Given the description of an element on the screen output the (x, y) to click on. 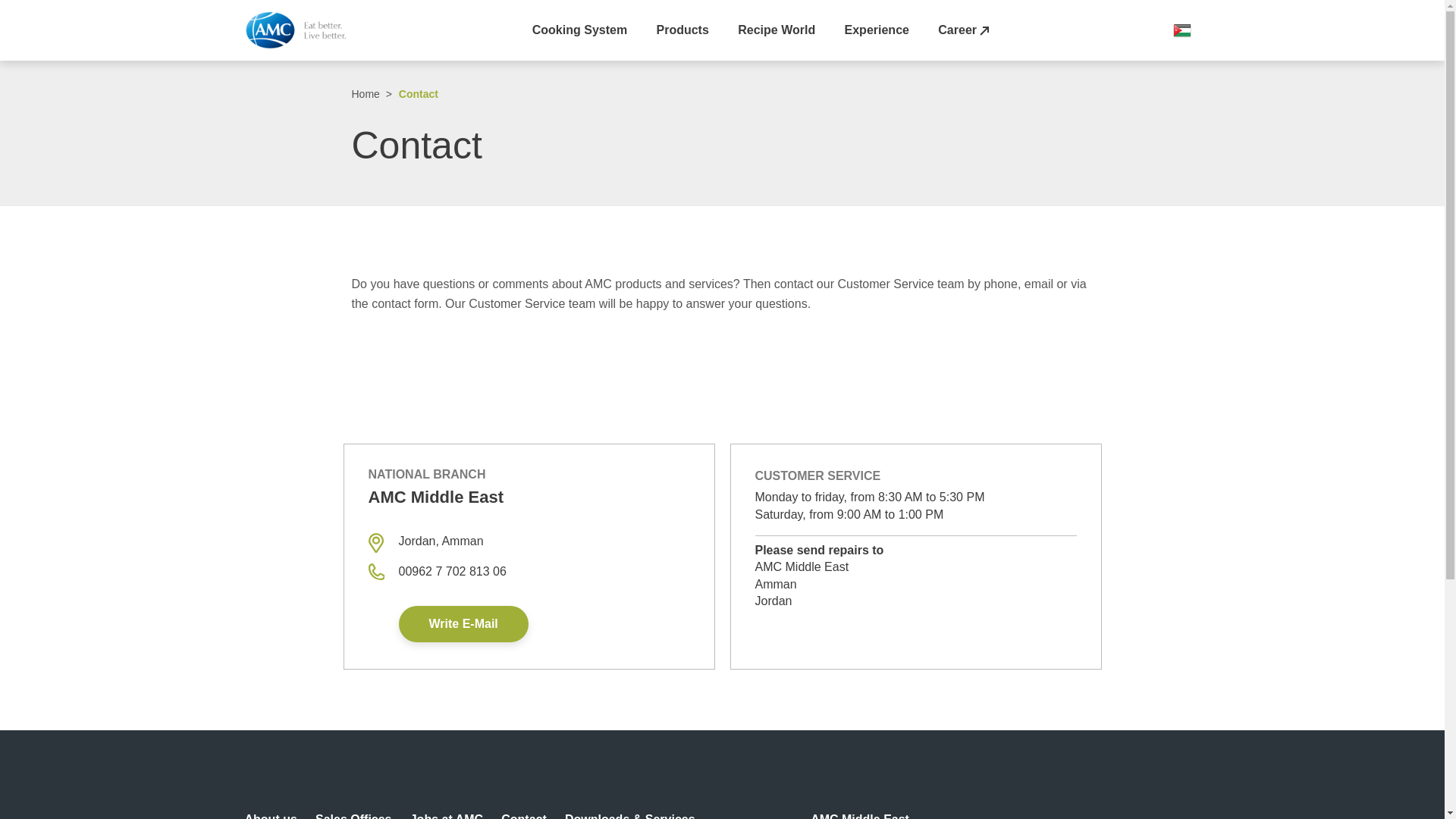
Experience (876, 30)
Recipe World (776, 30)
Cooking System (580, 30)
Products (682, 30)
Career (963, 30)
Home (300, 30)
